Given the description of an element on the screen output the (x, y) to click on. 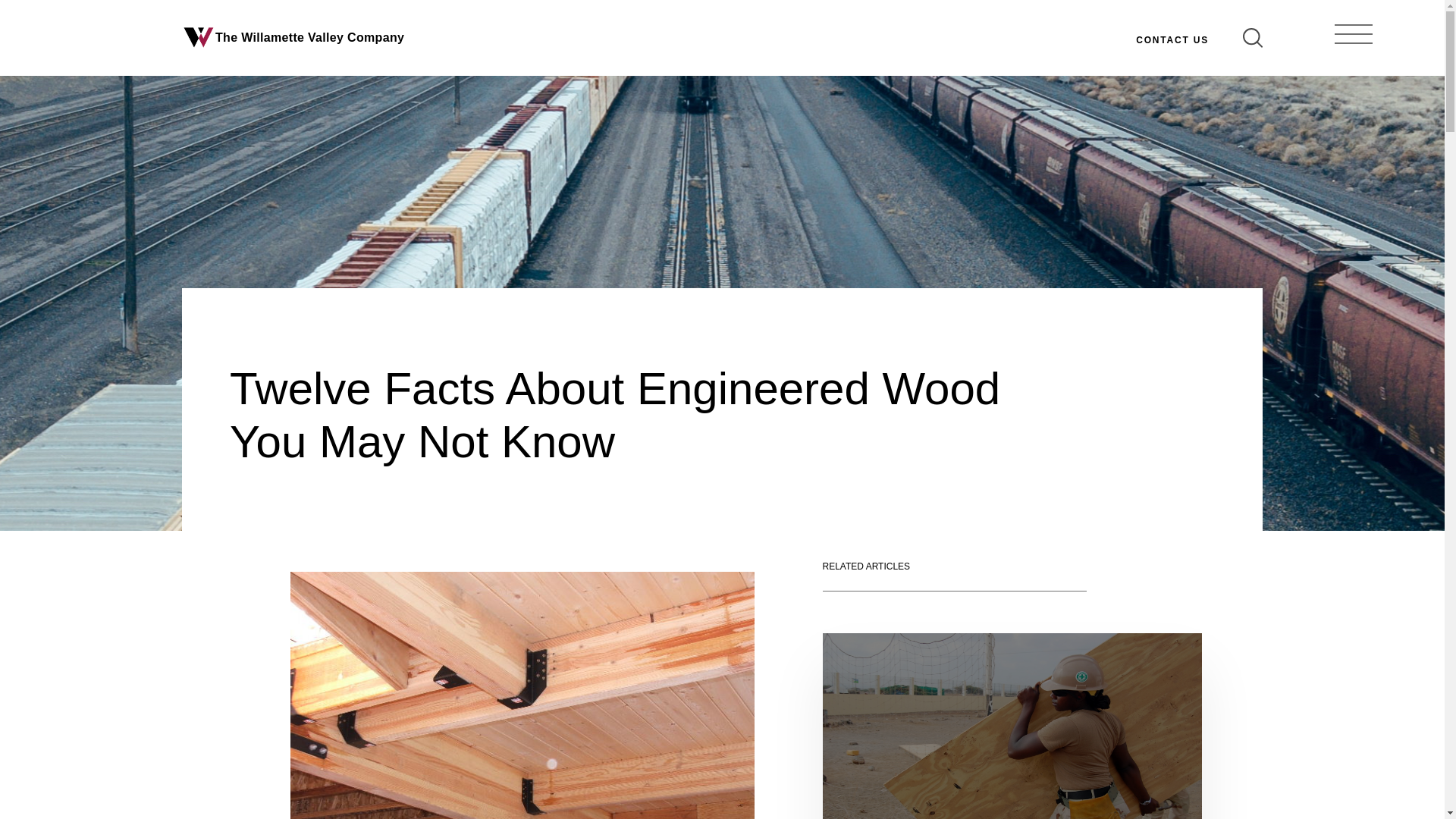
CONTACT US (1171, 37)
The Willamette Valley Company (293, 37)
